Given the description of an element on the screen output the (x, y) to click on. 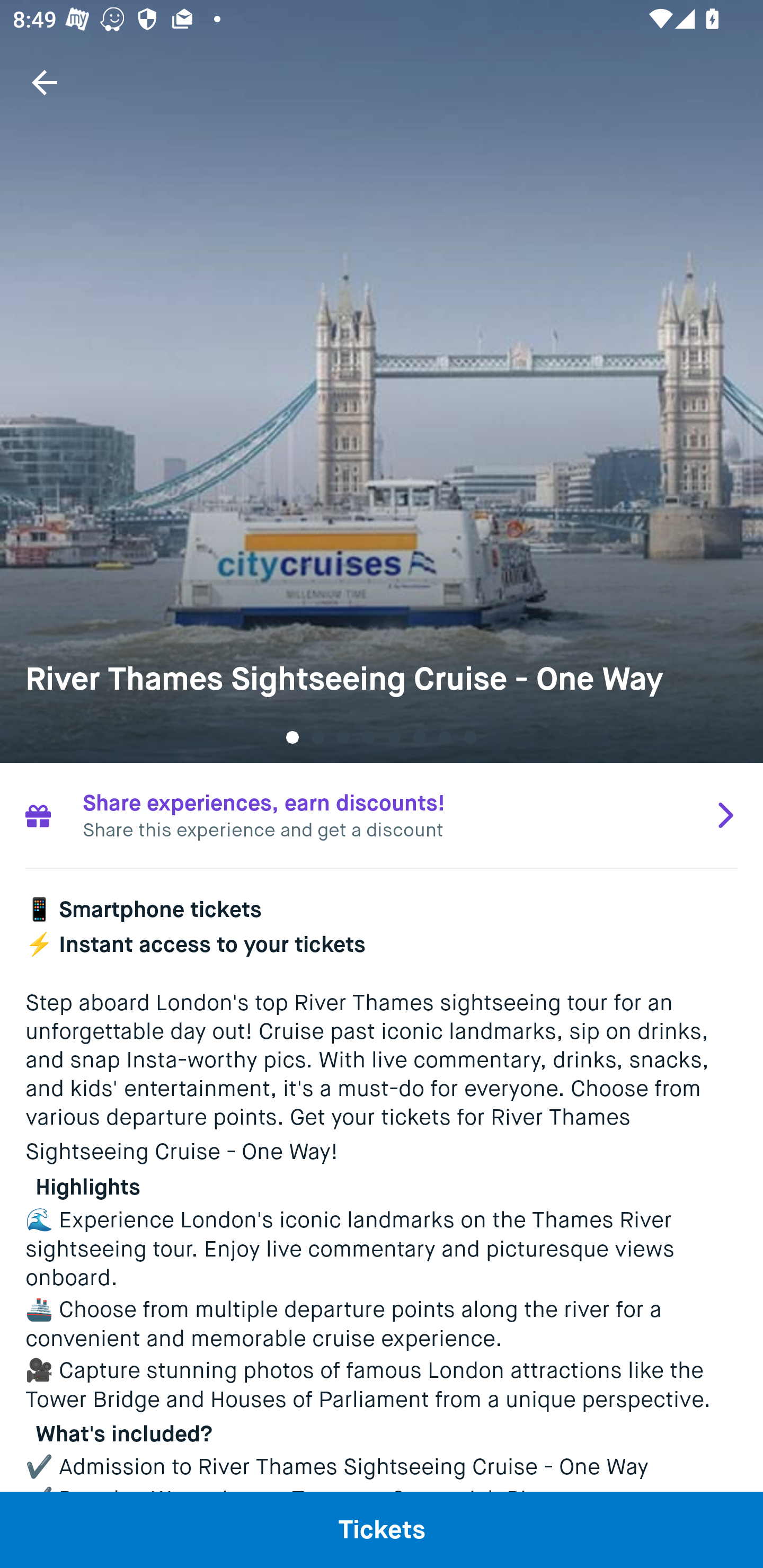
Navigate up (44, 82)
Tickets (381, 1529)
